Given the description of an element on the screen output the (x, y) to click on. 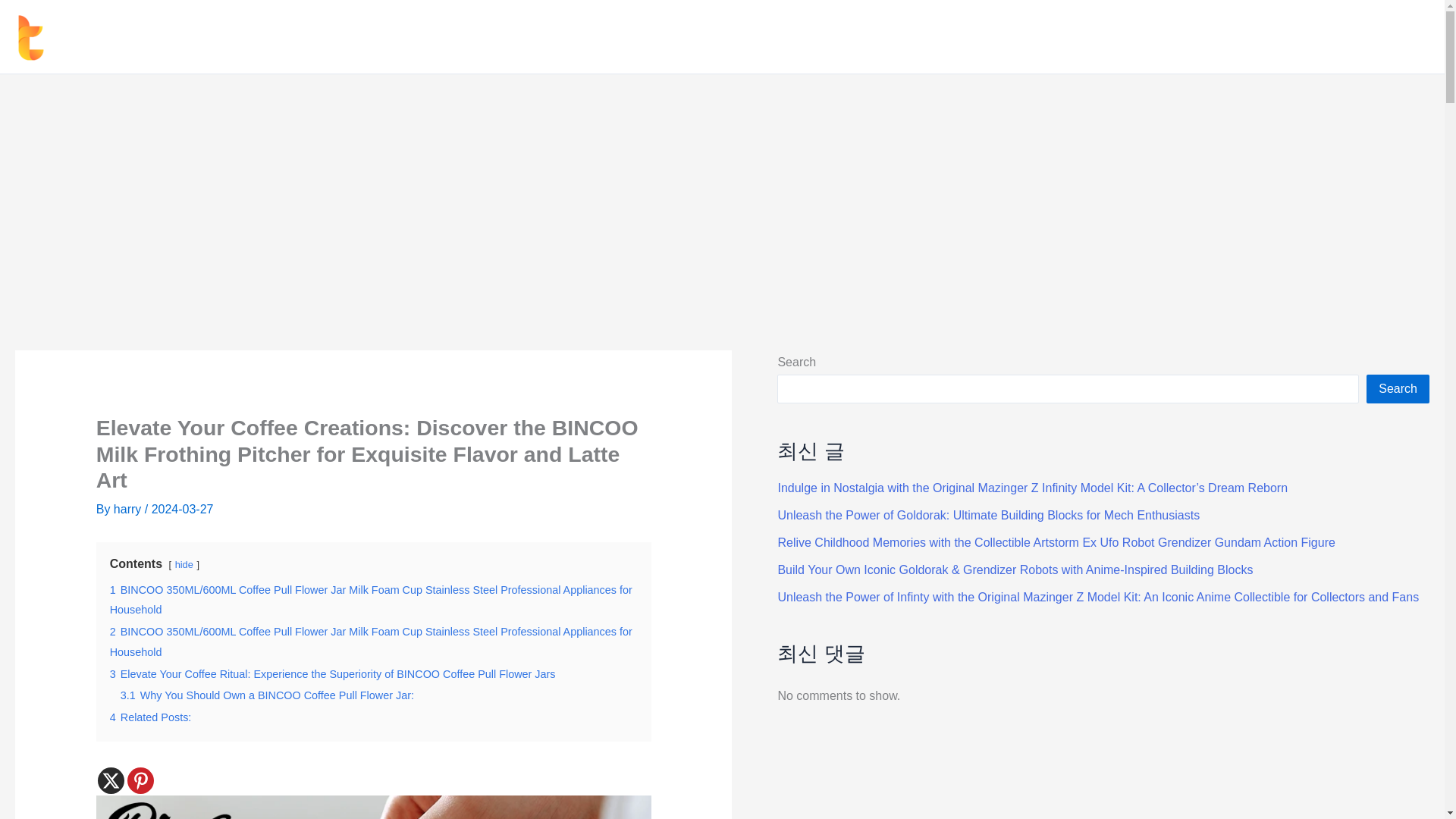
4 Related Posts: (151, 717)
Search (1398, 388)
harry (128, 508)
View all posts by harry (128, 508)
3.1 Why You Should Own a BINCOO Coffee Pull Flower Jar: (266, 695)
Pinterest (141, 780)
hide (183, 564)
X (110, 780)
